Given the description of an element on the screen output the (x, y) to click on. 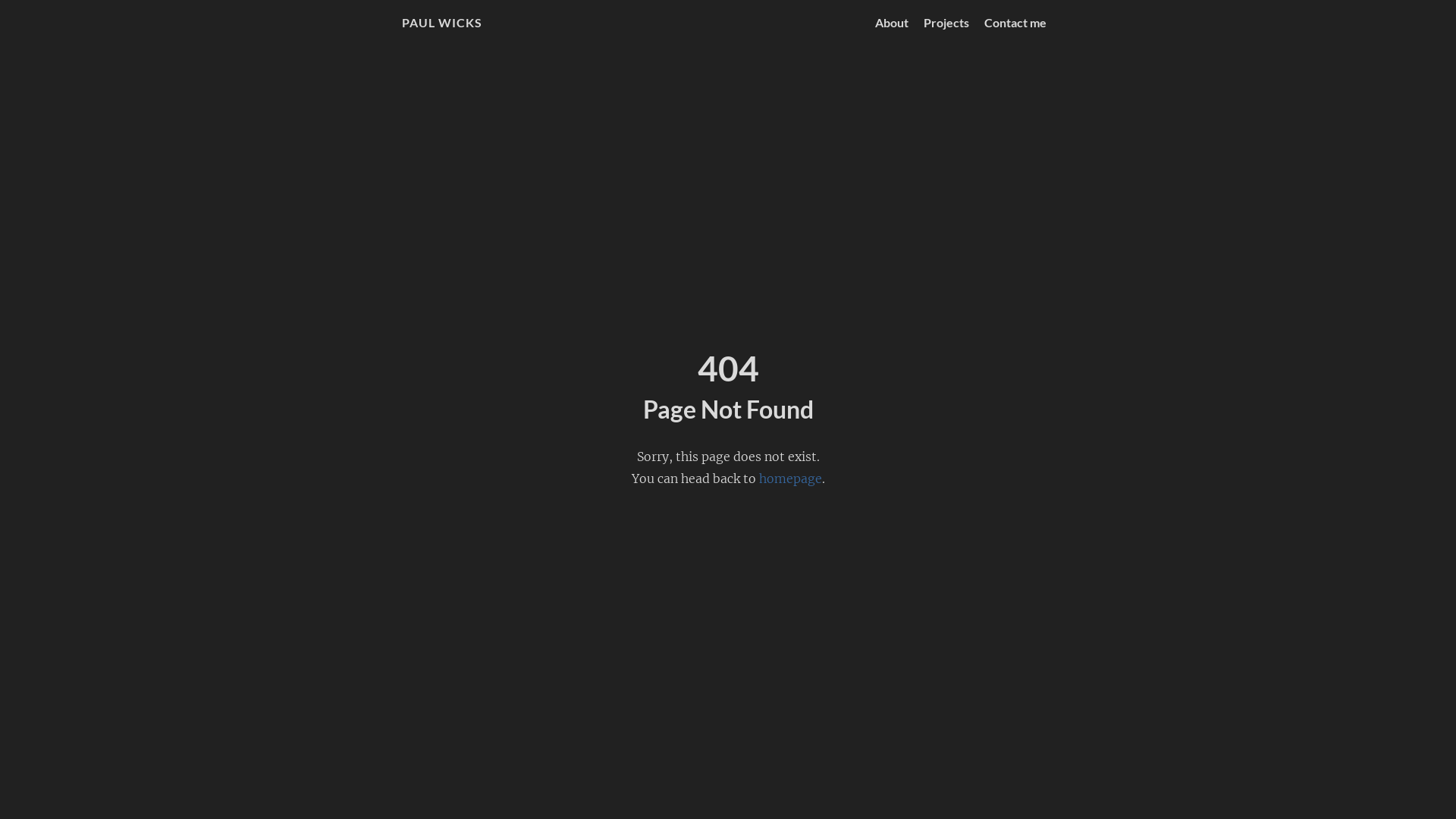
About Element type: text (891, 22)
Projects Element type: text (946, 22)
homepage Element type: text (789, 478)
PAUL WICKS Element type: text (441, 22)
Contact me Element type: text (1015, 22)
